Given the description of an element on the screen output the (x, y) to click on. 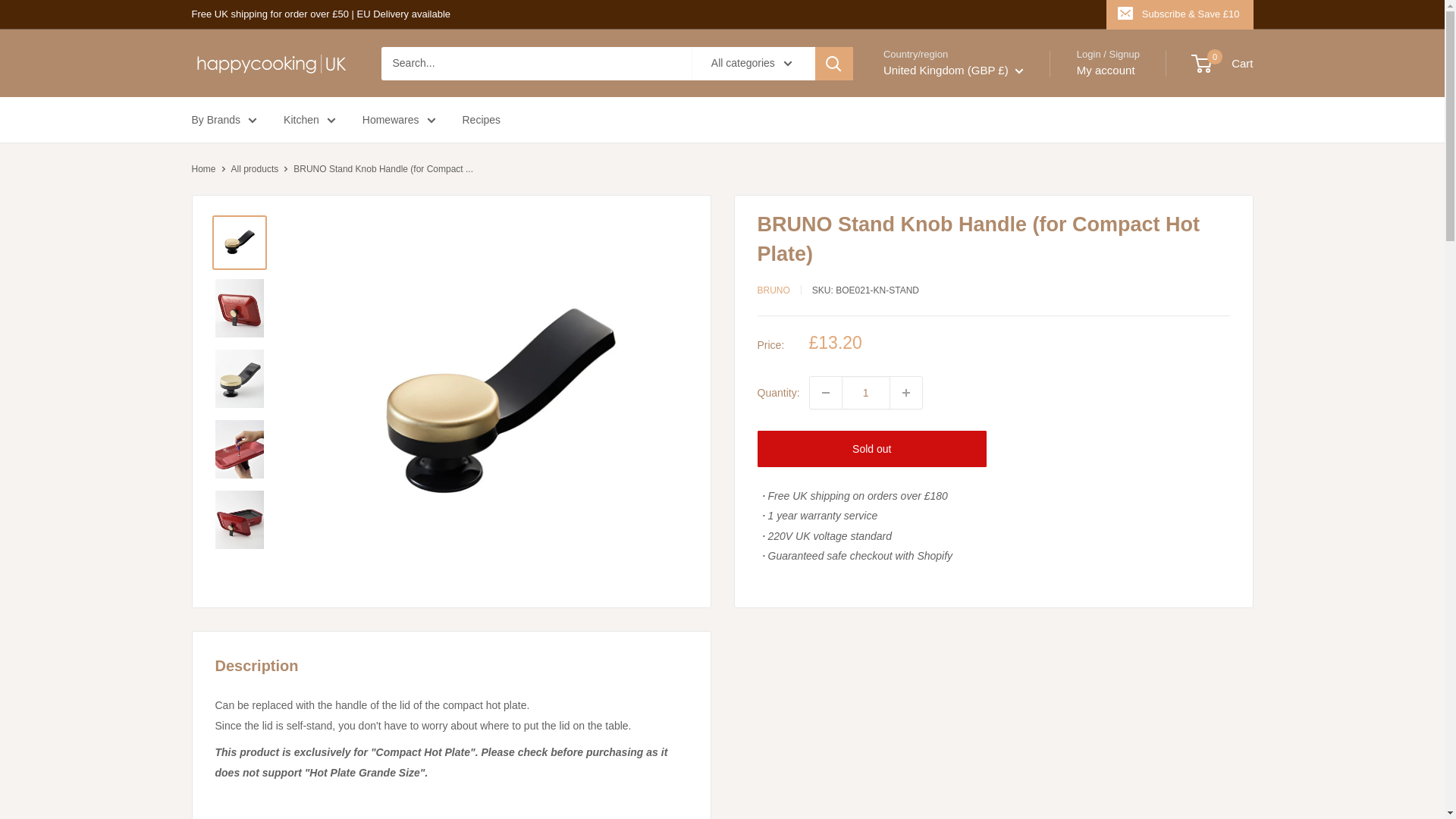
Increase quantity by 1 (905, 392)
1 (865, 392)
Decrease quantity by 1 (825, 392)
